Given the description of an element on the screen output the (x, y) to click on. 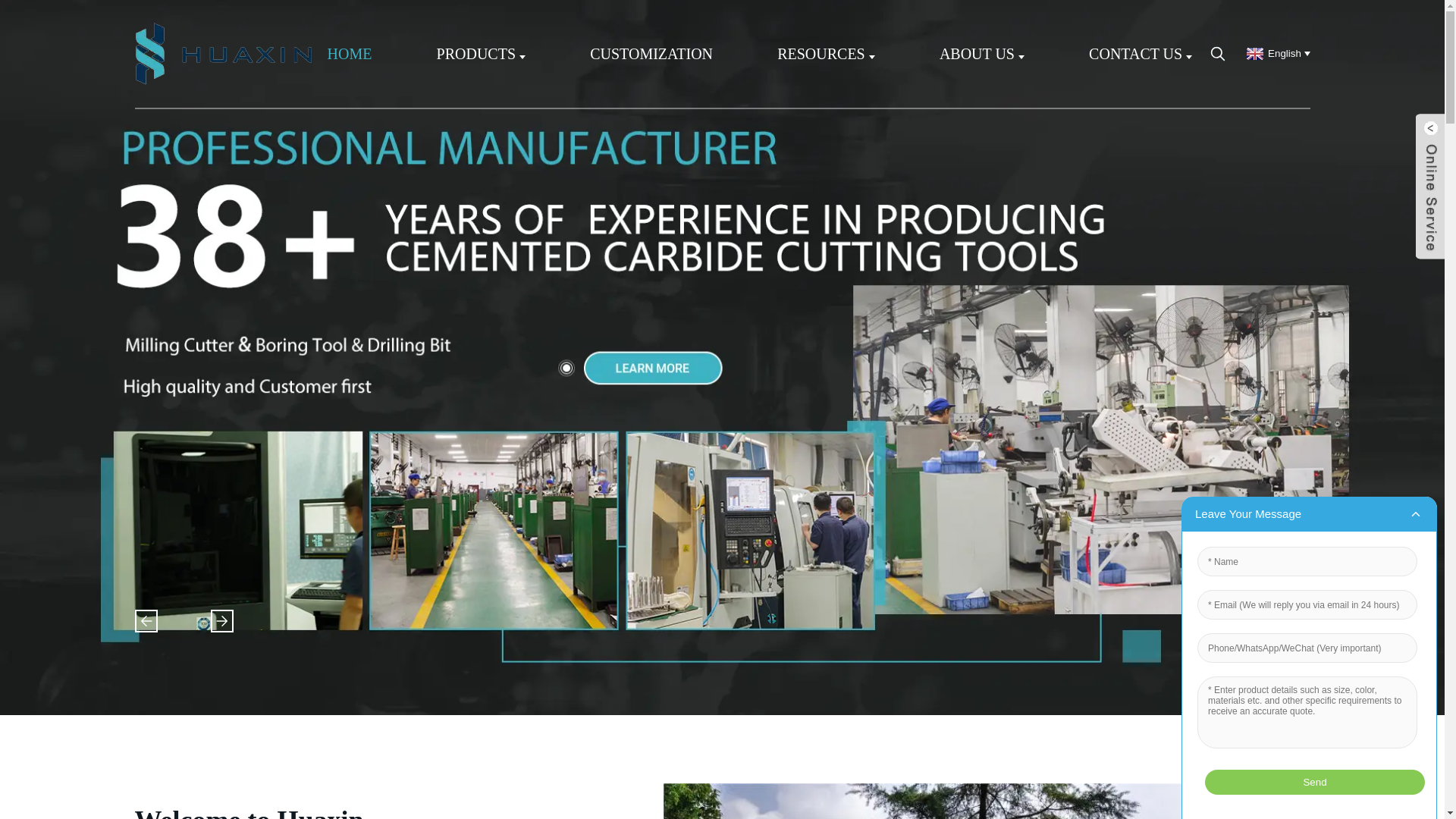
English (1275, 52)
ABOUT US (981, 53)
CUSTOMIZATION (651, 53)
HOME (350, 53)
RESOURCES (826, 53)
PRODUCTS (480, 53)
CONTACT US (1140, 53)
